Given the description of an element on the screen output the (x, y) to click on. 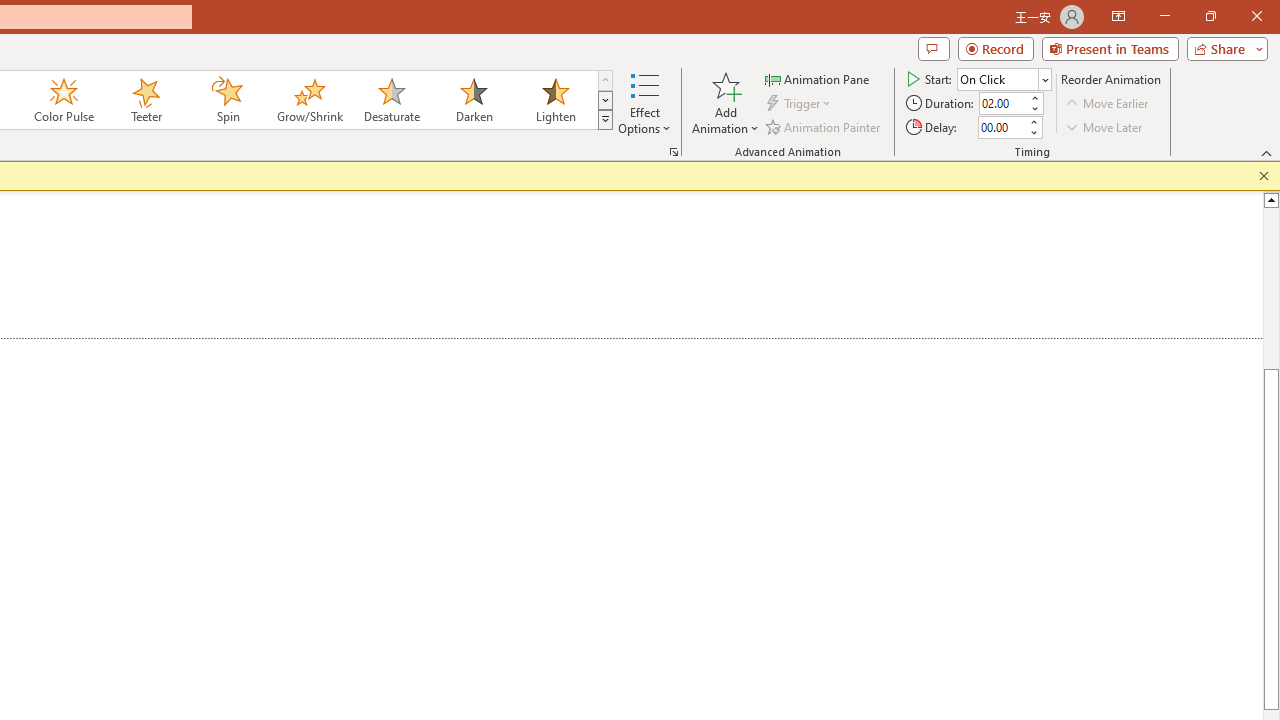
Restore Down (1210, 16)
More Options... (673, 151)
Animation Pane (818, 78)
Effect Options (644, 102)
Collapse the Ribbon (1267, 152)
Darken (473, 100)
